Given the description of an element on the screen output the (x, y) to click on. 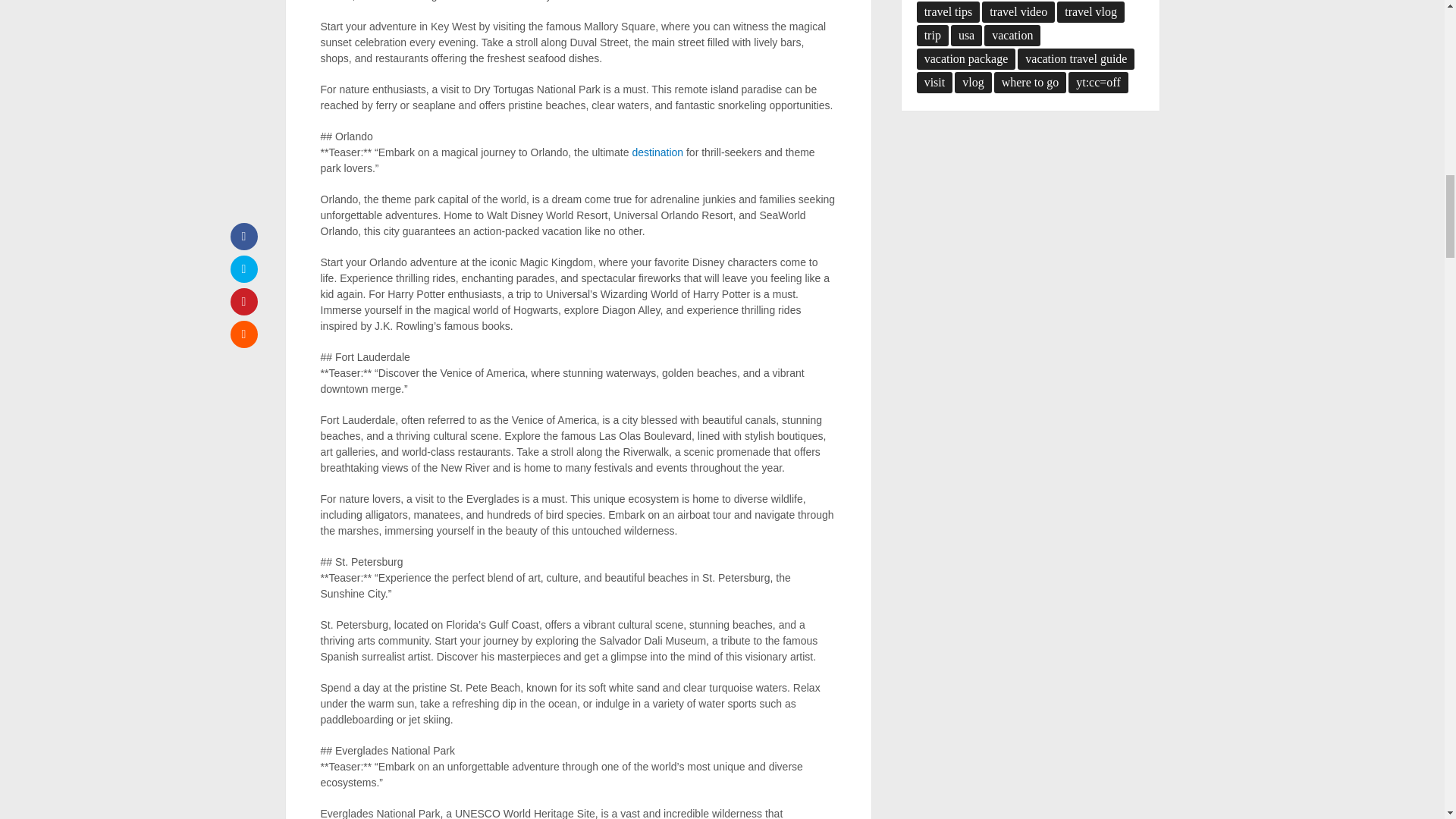
amazon kindle guides (656, 152)
